Given the description of an element on the screen output the (x, y) to click on. 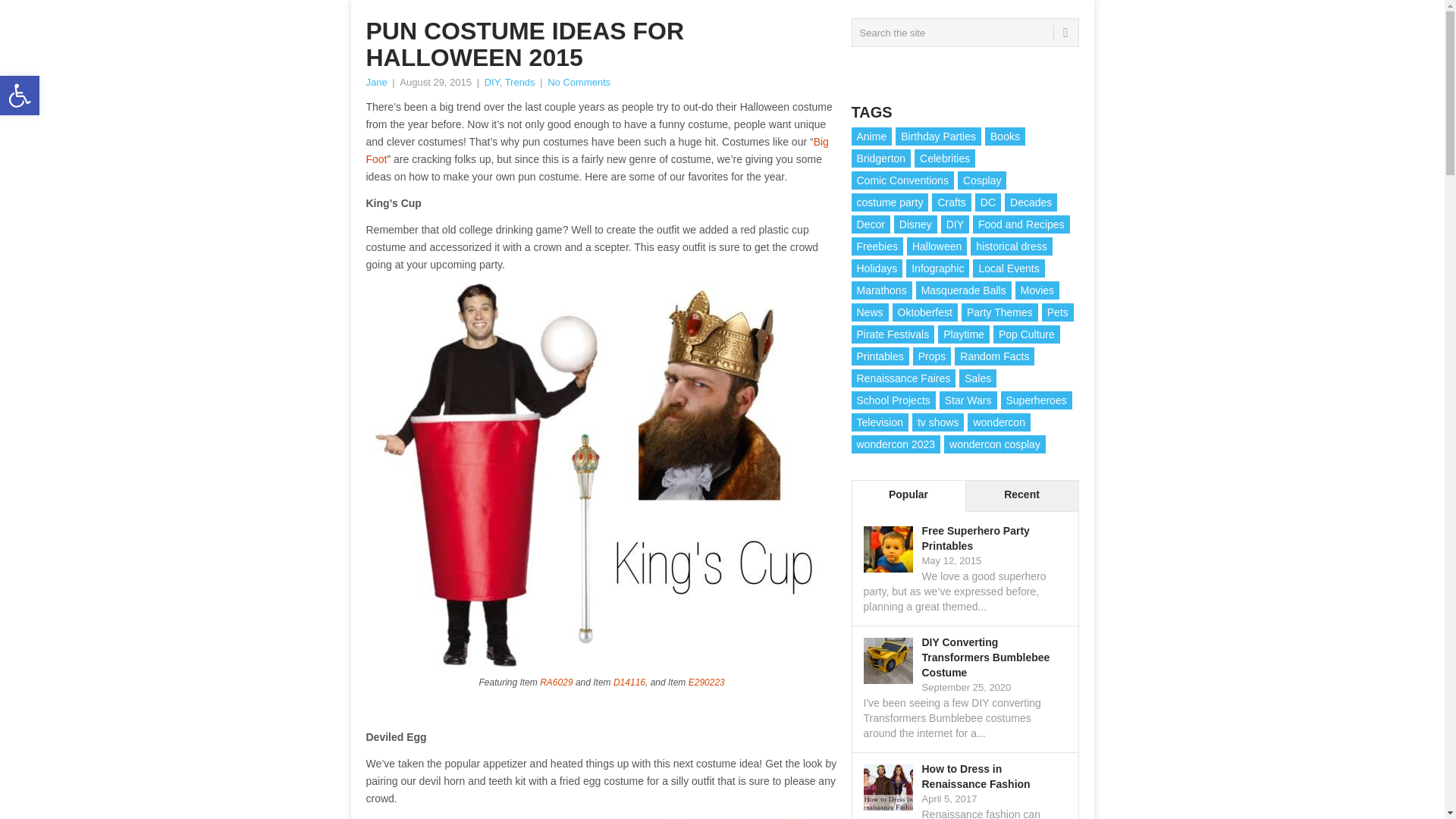
RA6029 (556, 682)
D14116 (628, 682)
Accessibility Tools (19, 95)
Jane (376, 81)
Big Foot (596, 150)
Search the site (964, 32)
E290223 (706, 682)
Trends (520, 81)
No Comments (578, 81)
Open toolbar (19, 95)
Posts by Jane (376, 81)
DIY (491, 81)
